Given the description of an element on the screen output the (x, y) to click on. 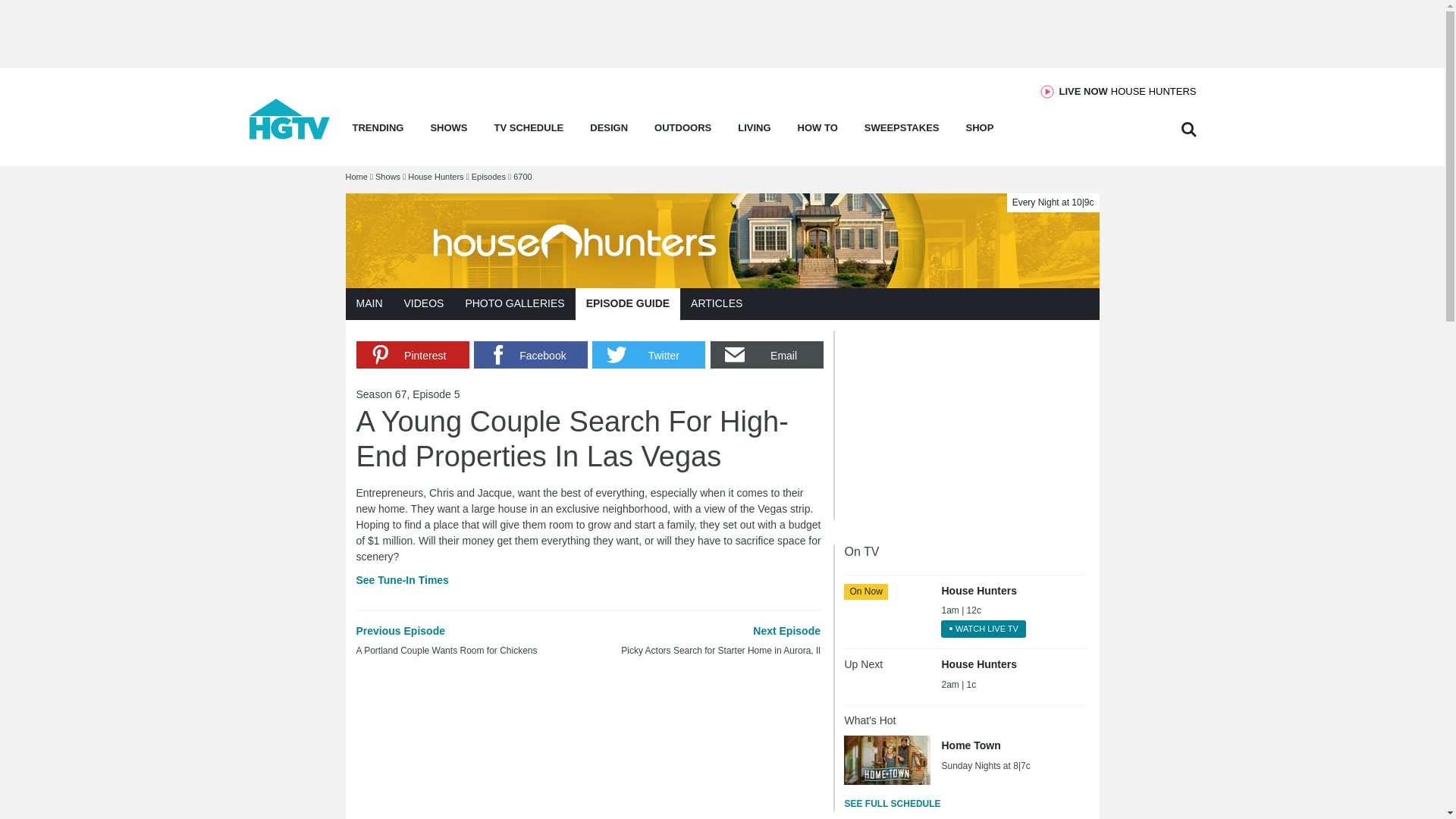
Share by Email (767, 354)
Share on Pinterest (1127, 91)
Share on Facebook (412, 354)
Share on Twitter (530, 354)
home (648, 354)
Home Town (289, 135)
TV SCHEDULE (887, 759)
